Given the description of an element on the screen output the (x, y) to click on. 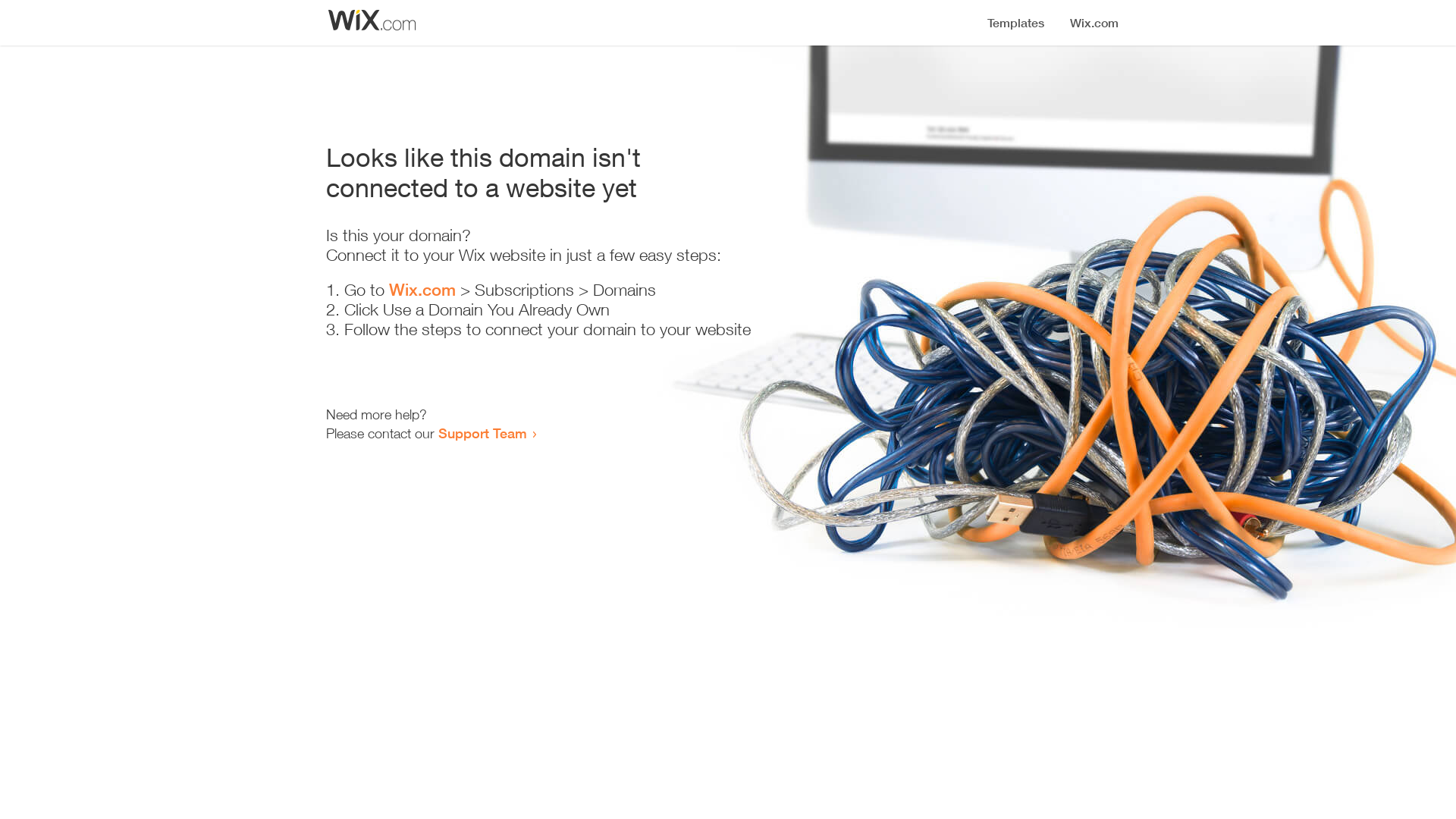
Support Team Element type: text (482, 432)
Wix.com Element type: text (422, 289)
